Given the description of an element on the screen output the (x, y) to click on. 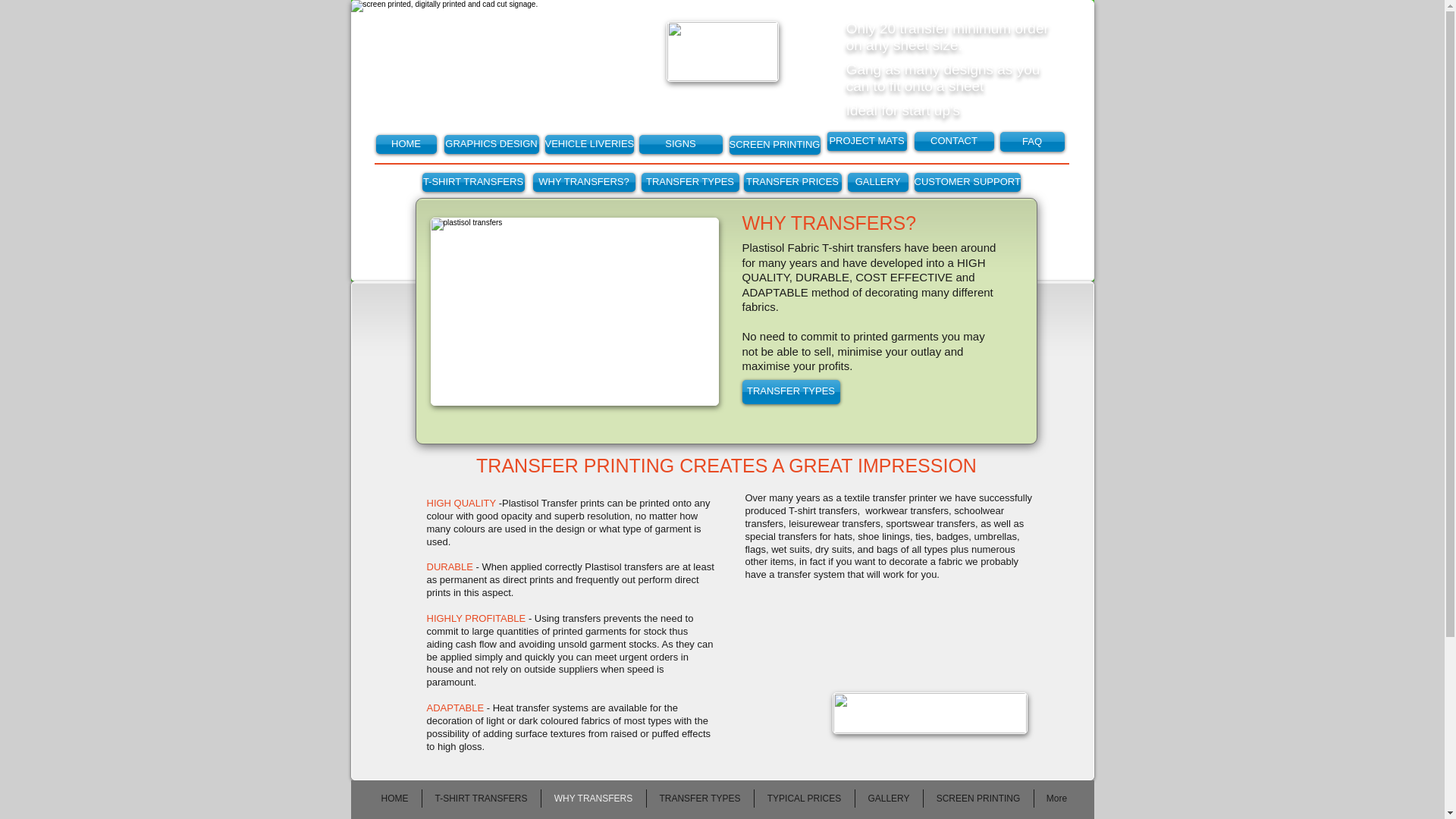
VEHICLE LIVERIES (588, 144)
TRANSFER TYPES (690, 181)
T-SHIRT TRANSFERS (481, 798)
PROJECT MATS (866, 140)
GALLERY (877, 181)
T-SHIRT TRANSFERS (473, 181)
SIGNS (680, 144)
WHY TRANSFERS (593, 798)
WHY TRANSFERS? (583, 181)
